Given the description of an element on the screen output the (x, y) to click on. 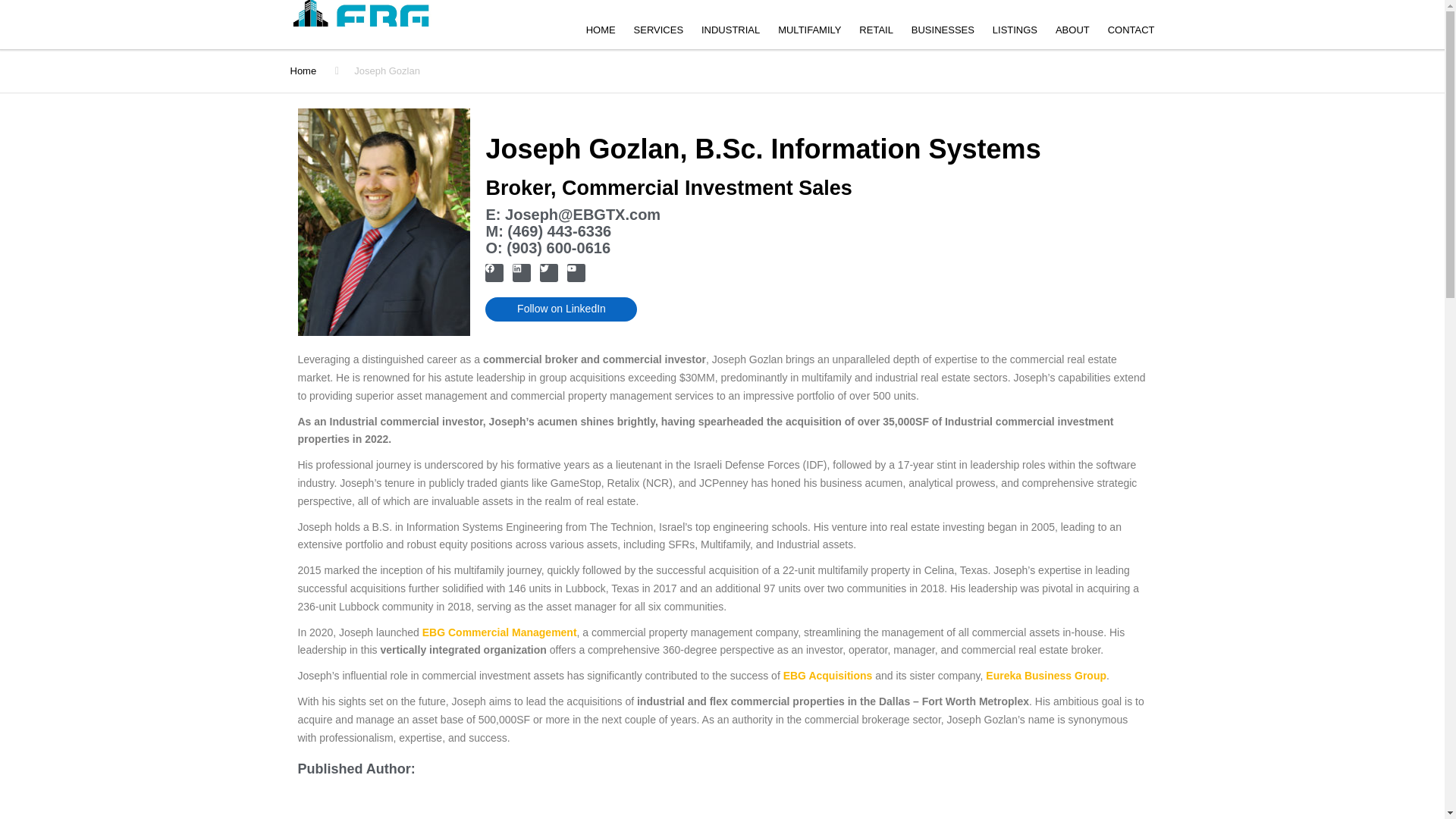
Eureka Business Group - Commercial Real Estate Brokers (425, 621)
HOME (600, 33)
INDUSTRIAL (730, 33)
BUSINESSES (942, 33)
MULTIFAMILY (809, 33)
RETAIL (876, 33)
SERVICES (658, 33)
LISTINGS (1015, 33)
